Given the description of an element on the screen output the (x, y) to click on. 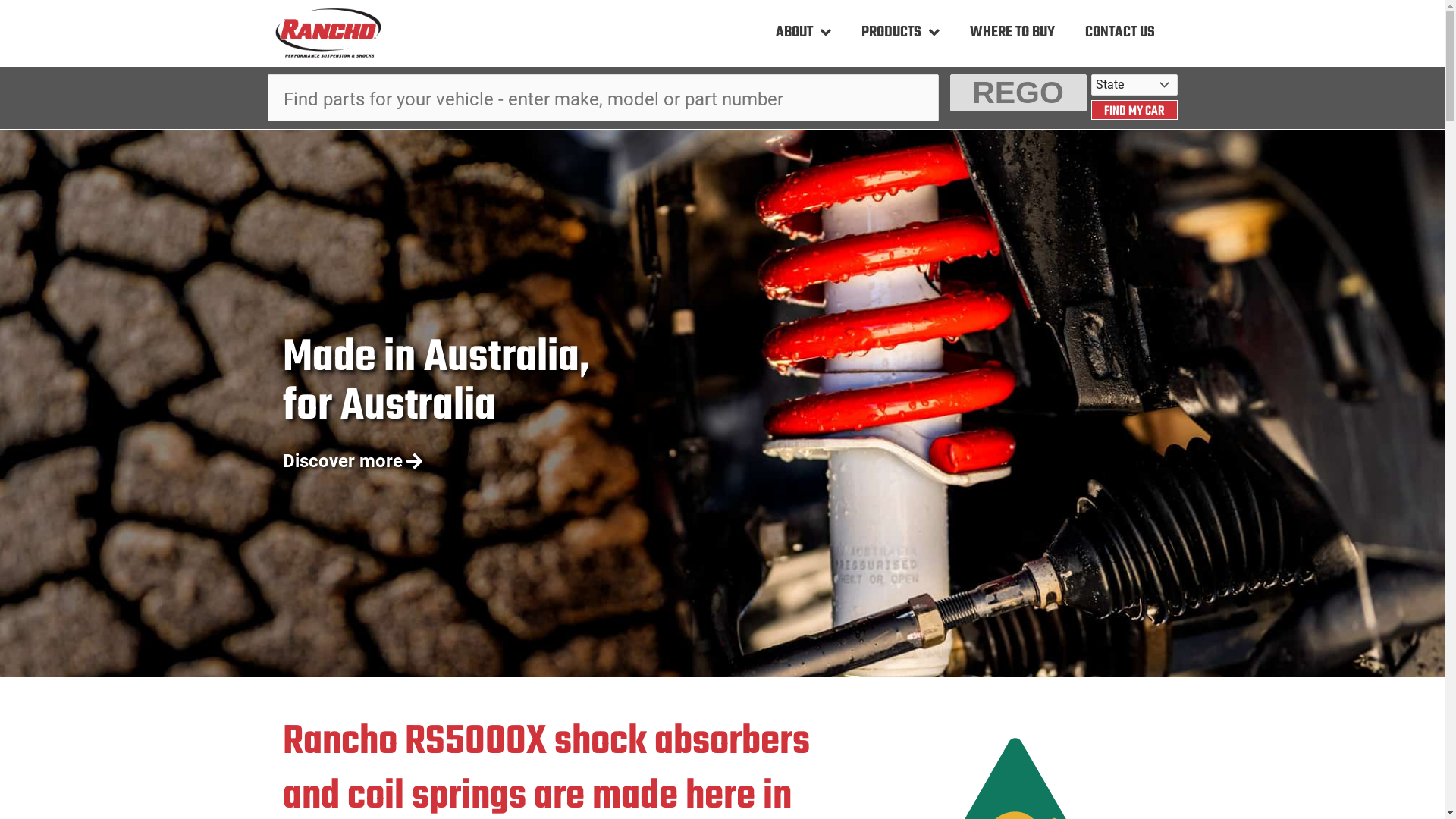
PRODUCTS Element type: text (900, 32)
CONTACT US Element type: text (1119, 32)
Discover more Element type: text (351, 460)
ABOUT Element type: text (802, 32)
FIND MY CAR Element type: text (1133, 109)
WHERE TO BUY Element type: text (1011, 32)
